Given the description of an element on the screen output the (x, y) to click on. 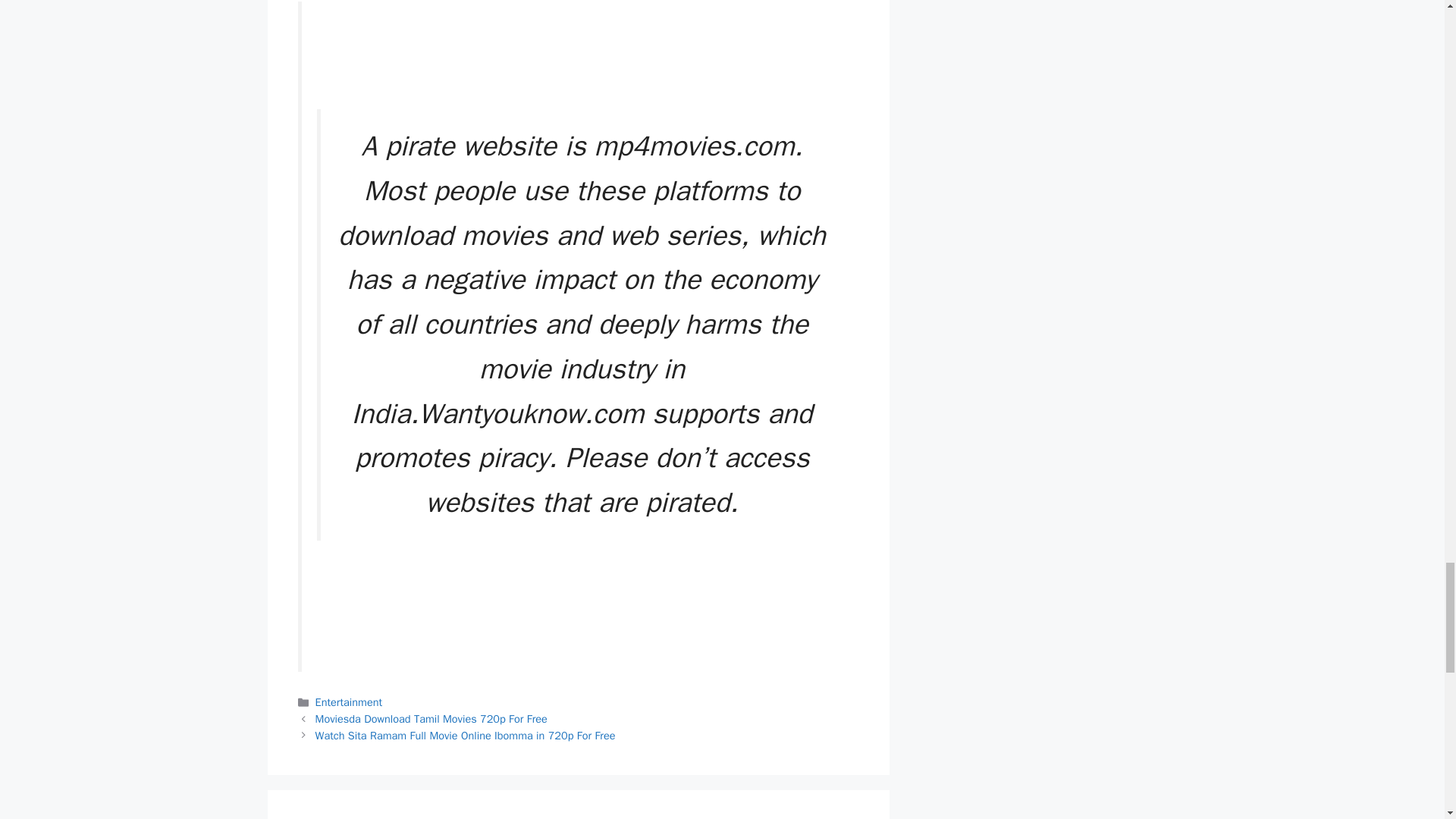
Moviesda Download Tamil Movies 720p For Free (431, 718)
Entertainment (348, 702)
Watch Sita Ramam Full Movie Online Ibomma in 720p For Free (465, 735)
